Given the description of an element on the screen output the (x, y) to click on. 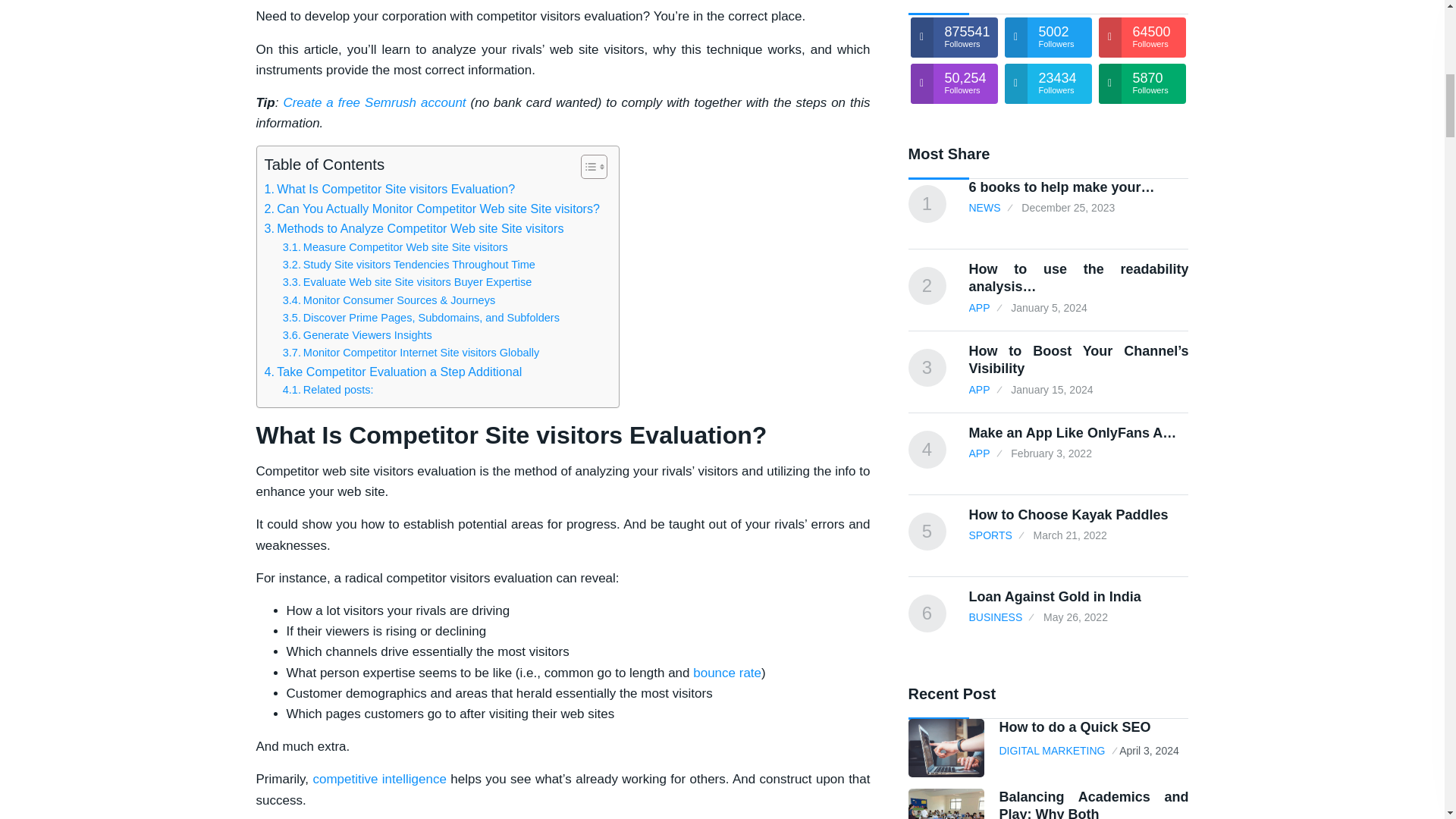
Discover Prime Pages, Subdomains, and Subfolders (420, 317)
Methods to Analyze Competitor Web site Site visitors (413, 229)
Measure Competitor Web site Site visitors (395, 247)
Related posts: (328, 389)
Study Site visitors Tendencies Throughout Time (408, 264)
